Given the description of an element on the screen output the (x, y) to click on. 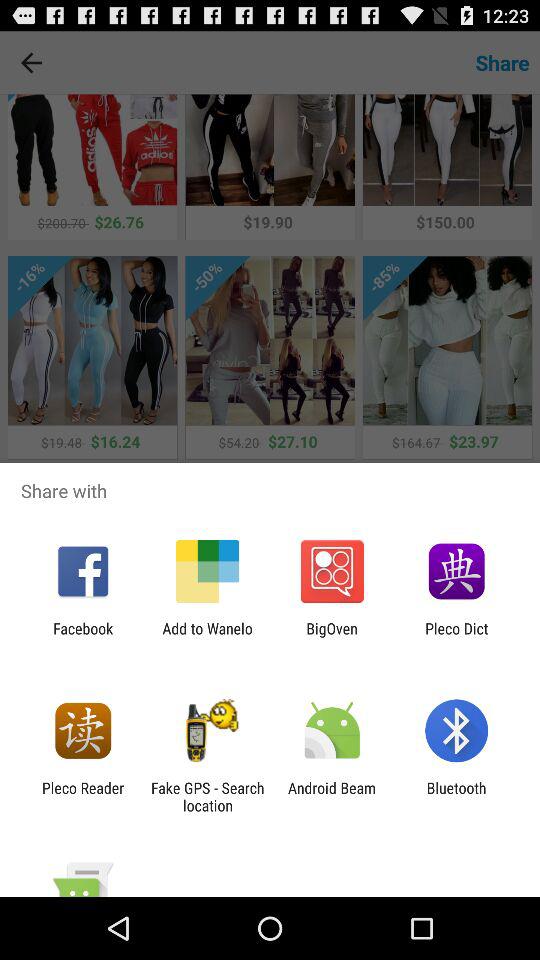
select the icon to the right of facebook (207, 637)
